Given the description of an element on the screen output the (x, y) to click on. 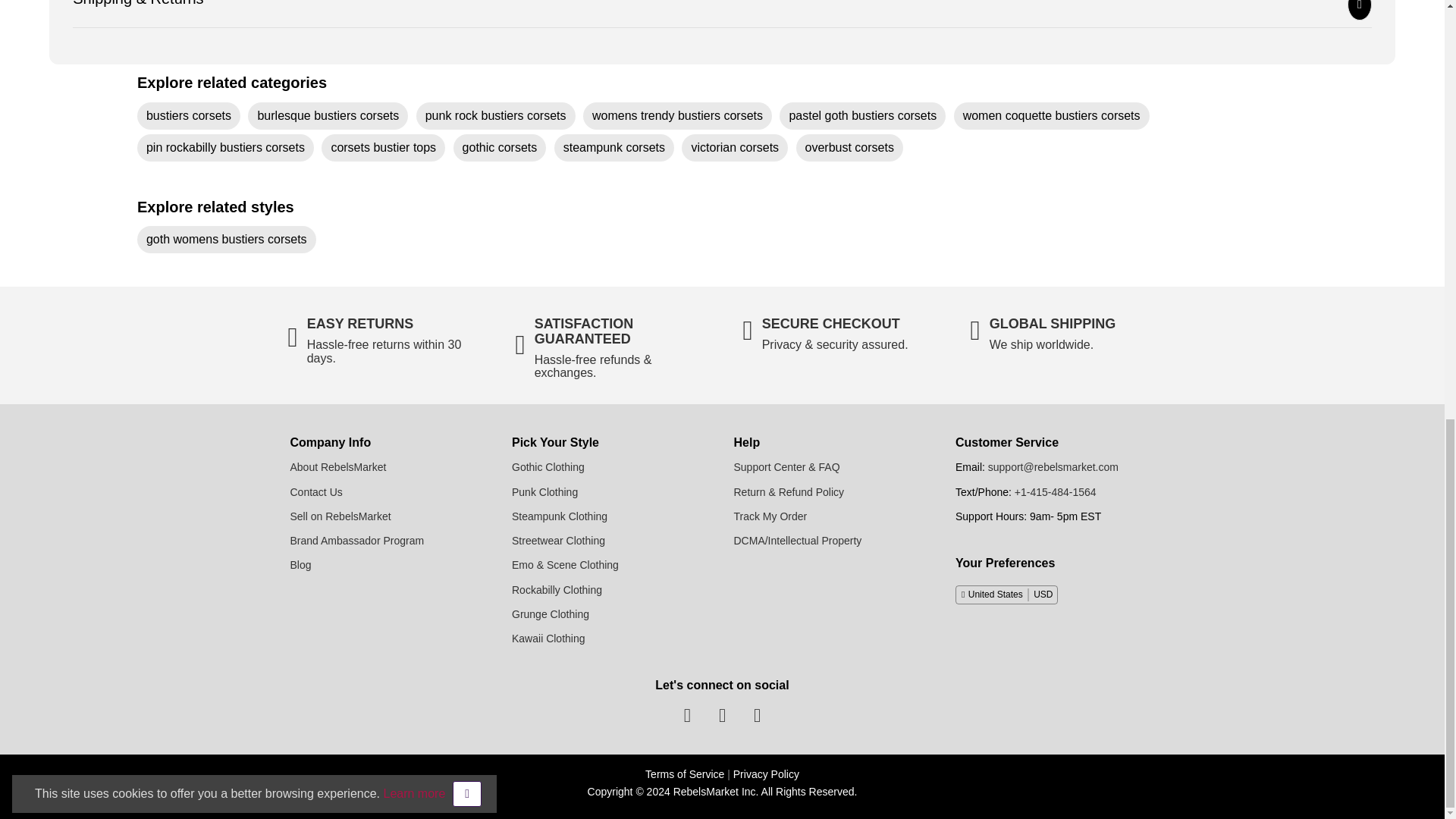
About Us  (337, 467)
Contact Us (315, 491)
